Given the description of an element on the screen output the (x, y) to click on. 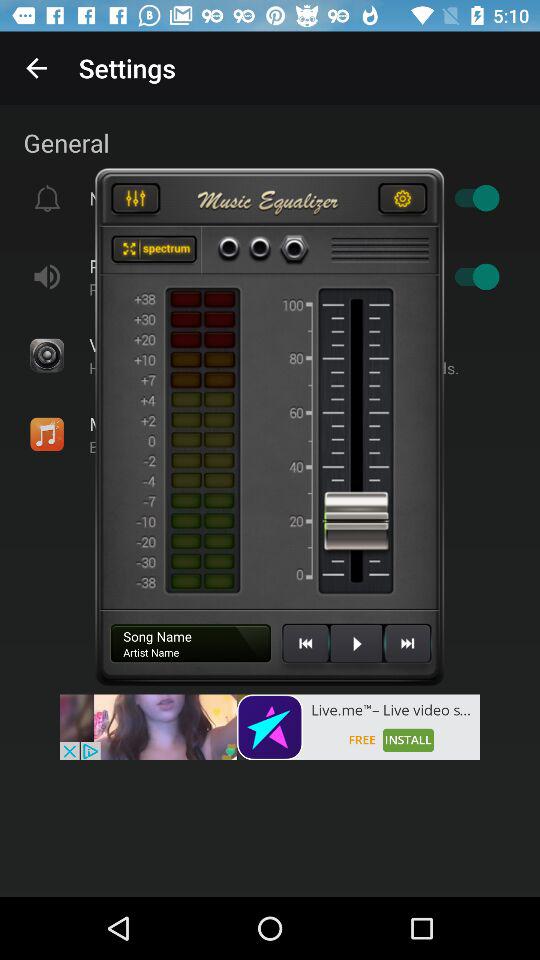
fast forward (407, 651)
